Given the description of an element on the screen output the (x, y) to click on. 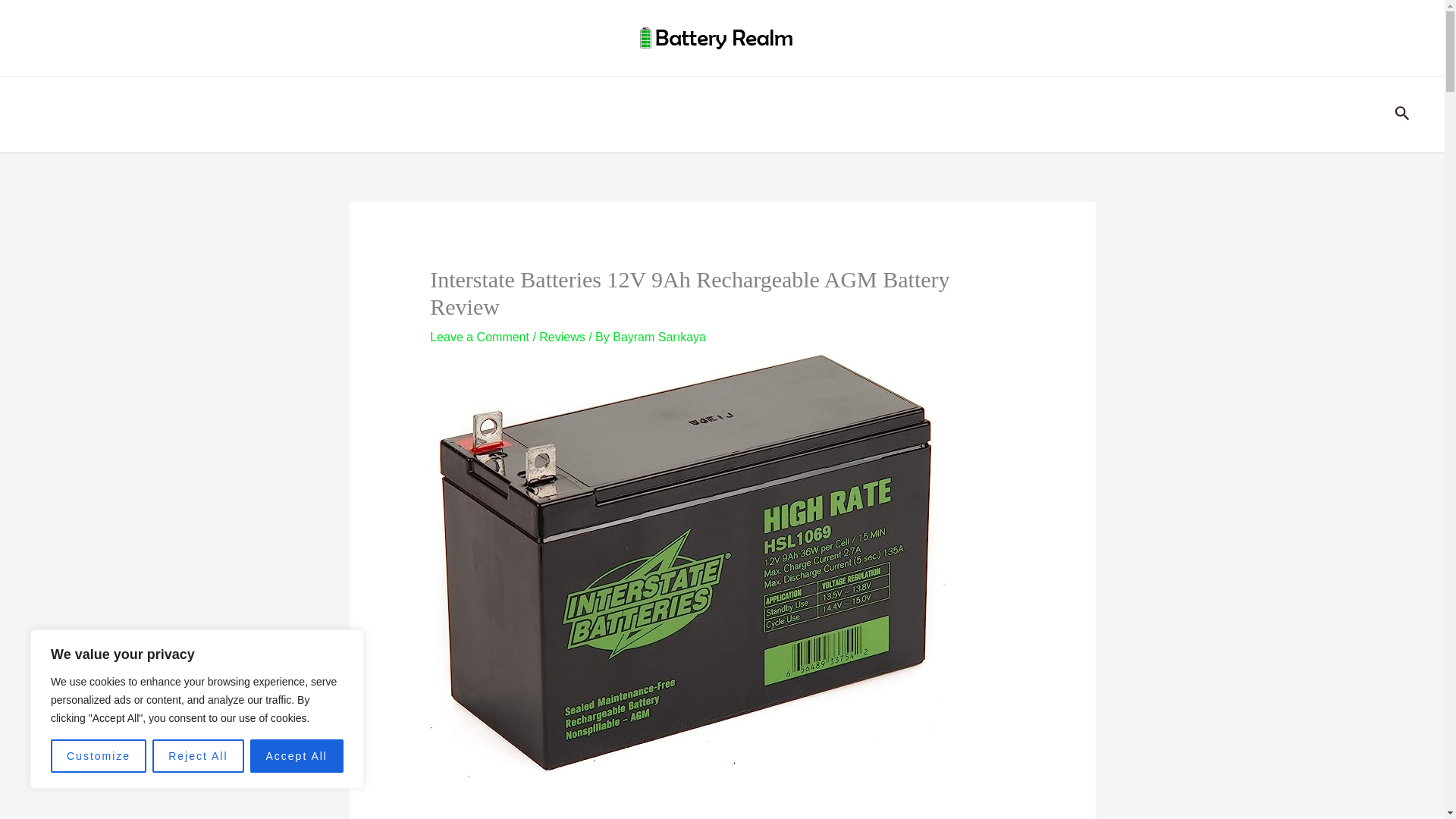
Reviews (561, 336)
Accept All (296, 756)
Comparison (127, 114)
Reject All (197, 756)
Reviews (324, 114)
Customize (98, 756)
Leave a Comment (479, 336)
Advertisement (721, 810)
